Given the description of an element on the screen output the (x, y) to click on. 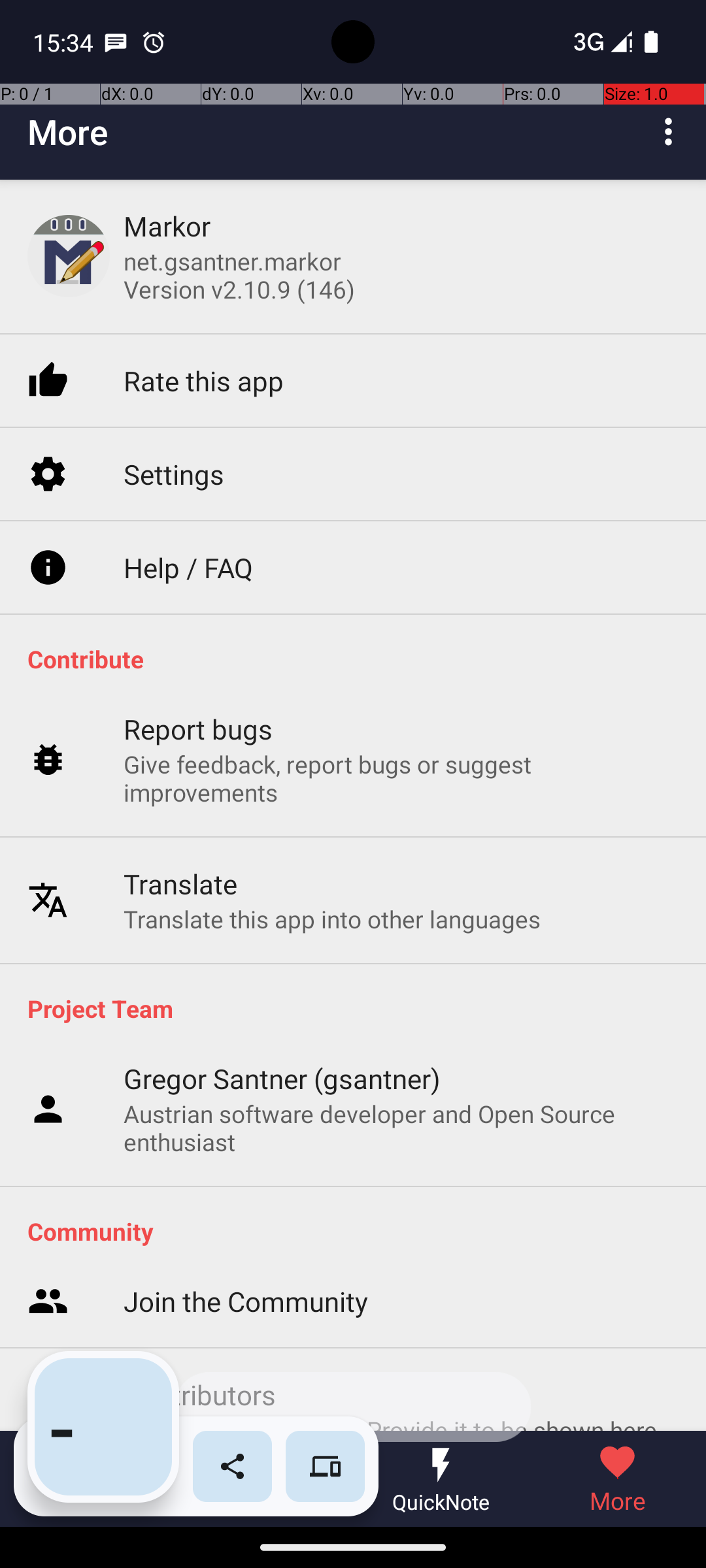
Send to nearby device Element type: android.widget.FrameLayout (324, 1466)
